Given the description of an element on the screen output the (x, y) to click on. 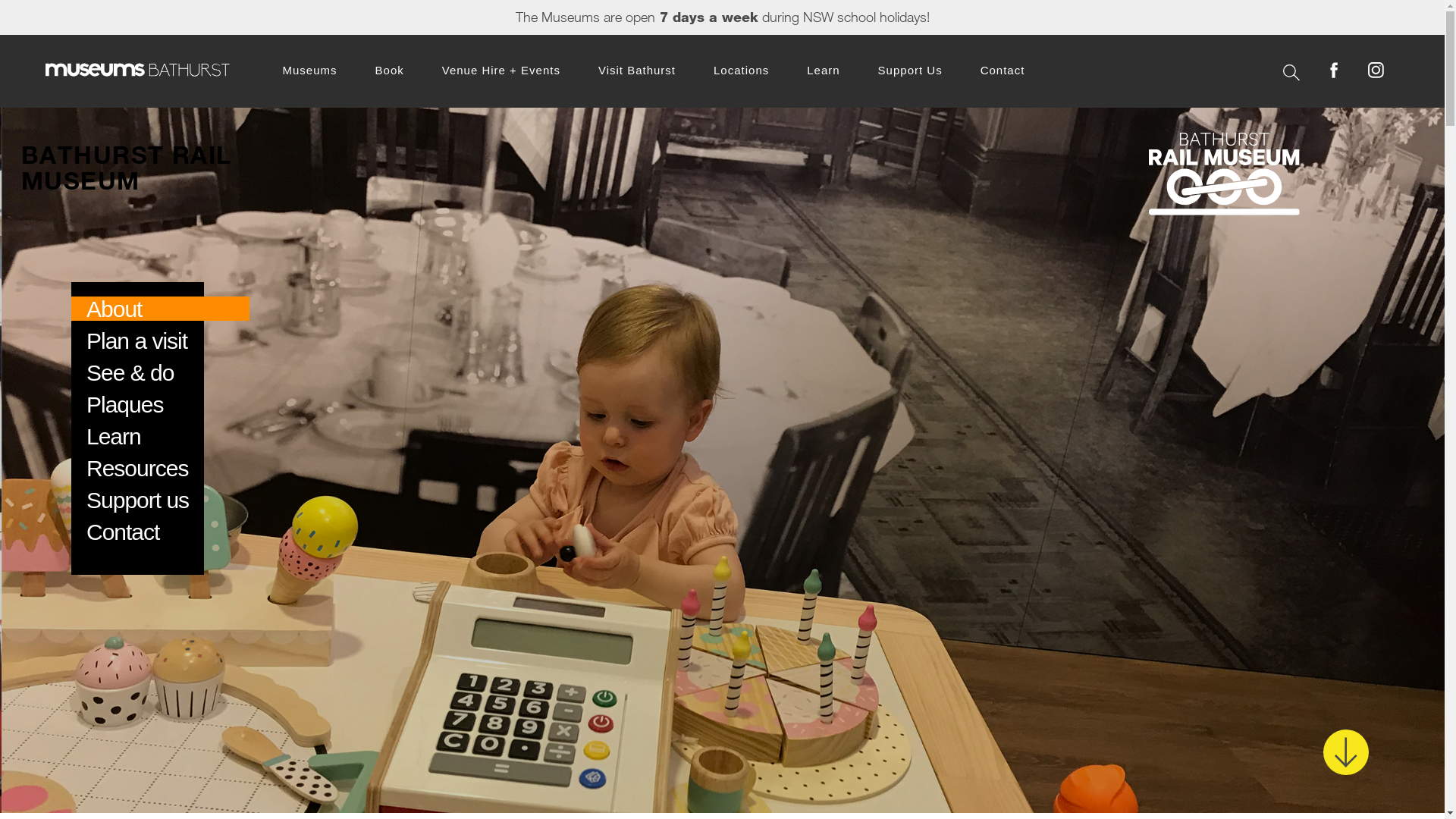
Book Element type: text (389, 69)
Support Us Element type: text (910, 69)
Contact Element type: text (122, 531)
About Element type: text (113, 308)
Learn Element type: text (113, 435)
Plaques Element type: text (124, 404)
See & do Element type: text (129, 372)
Support us Element type: text (137, 499)
Resources Element type: text (137, 467)
Venue Hire + Events Element type: text (501, 69)
Locations Element type: text (740, 69)
Contact Element type: text (1002, 69)
Plan a visit Element type: text (136, 340)
Visit Bathurst Element type: text (636, 69)
Museums Element type: text (309, 69)
Learn Element type: text (822, 69)
